Given the description of an element on the screen output the (x, y) to click on. 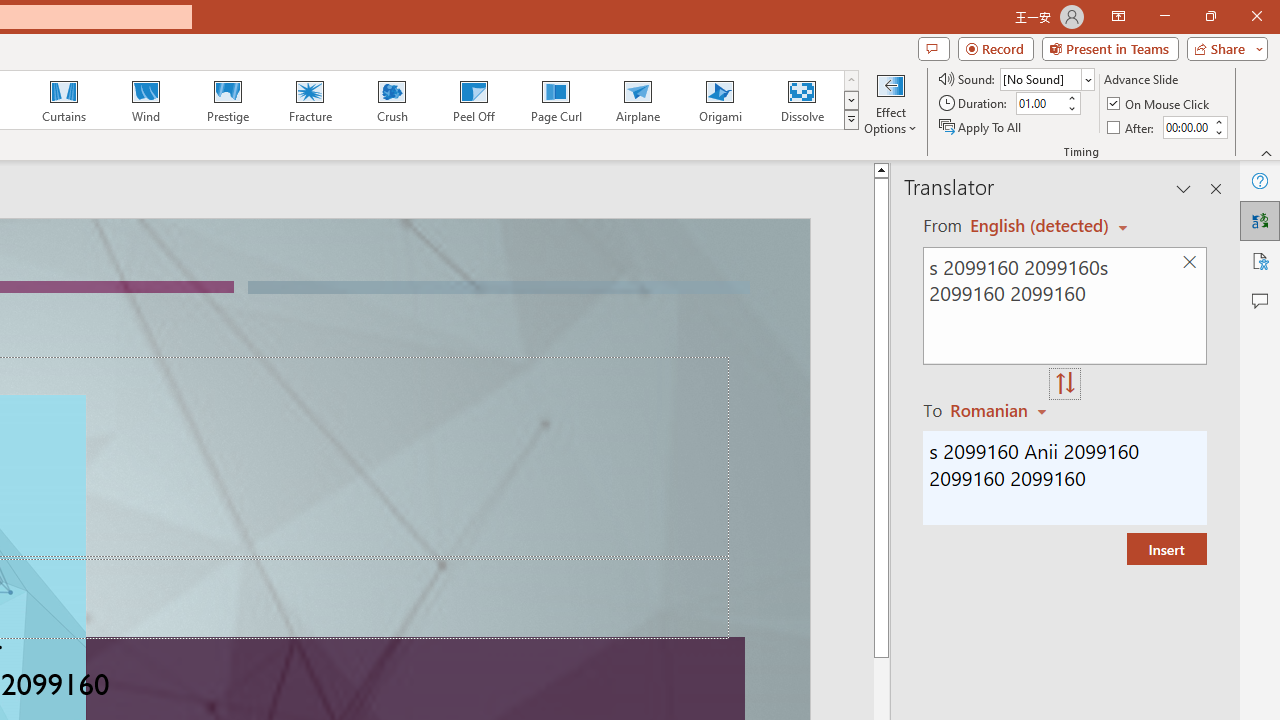
Effect Options (890, 102)
Sound (1046, 78)
On Mouse Click (1159, 103)
After (1186, 127)
Close pane (1215, 188)
Peel Off (473, 100)
Open (1087, 79)
Translator (1260, 220)
Prestige (227, 100)
Less (1218, 132)
Fracture (309, 100)
